Given the description of an element on the screen output the (x, y) to click on. 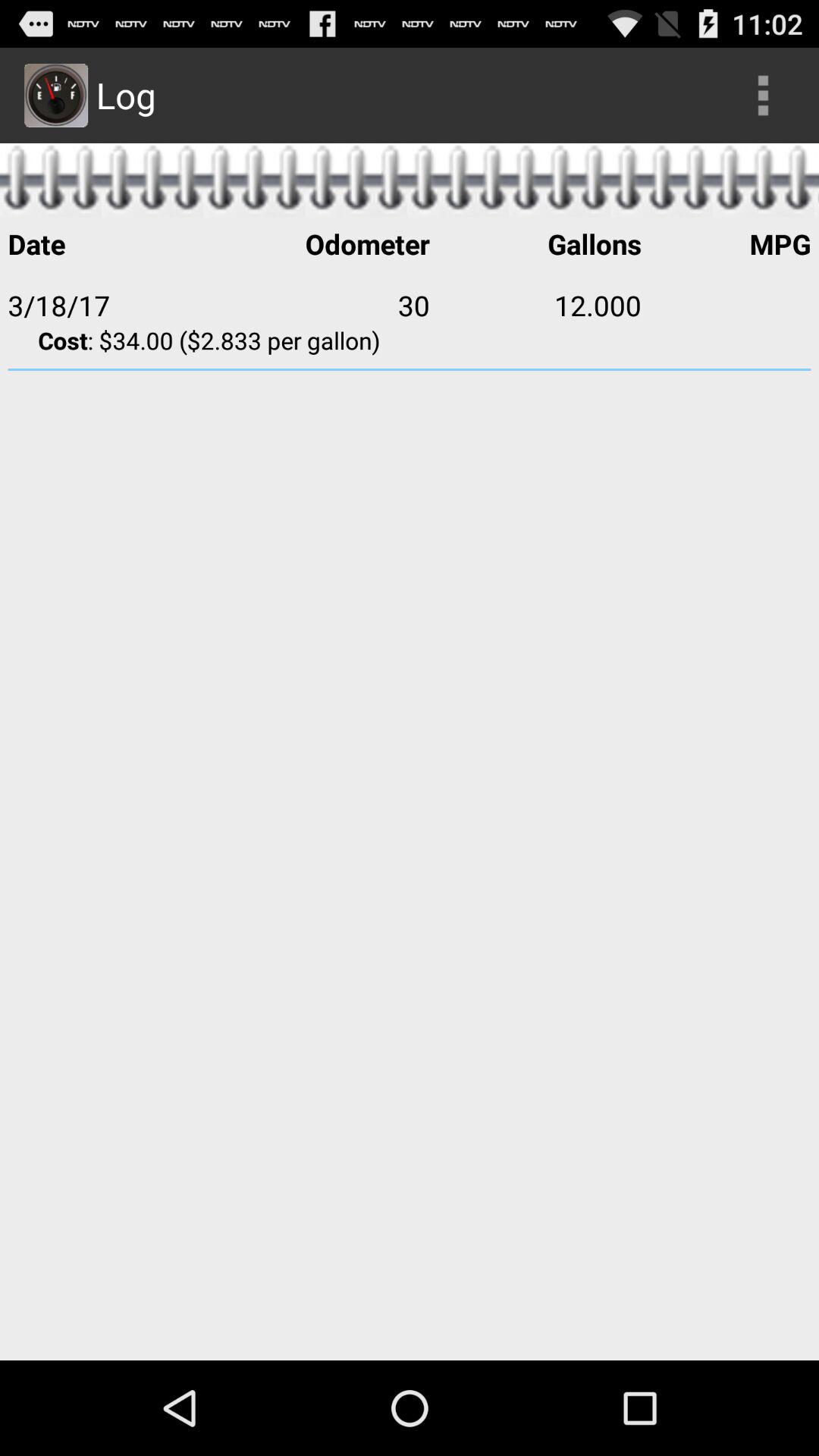
scroll to the 12.000 item (535, 305)
